Given the description of an element on the screen output the (x, y) to click on. 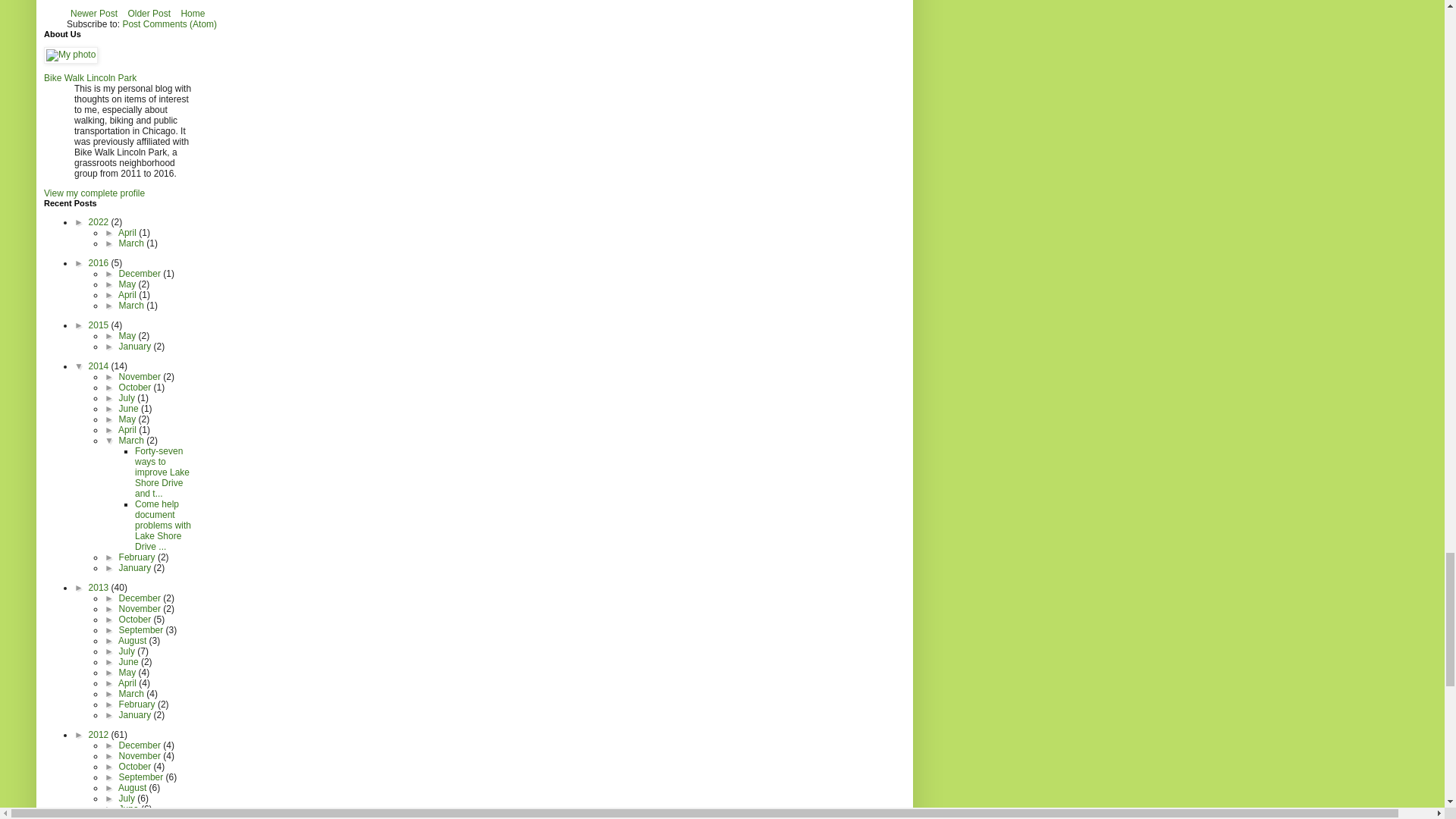
Older Post (148, 13)
Newer Post (93, 13)
